Given the description of an element on the screen output the (x, y) to click on. 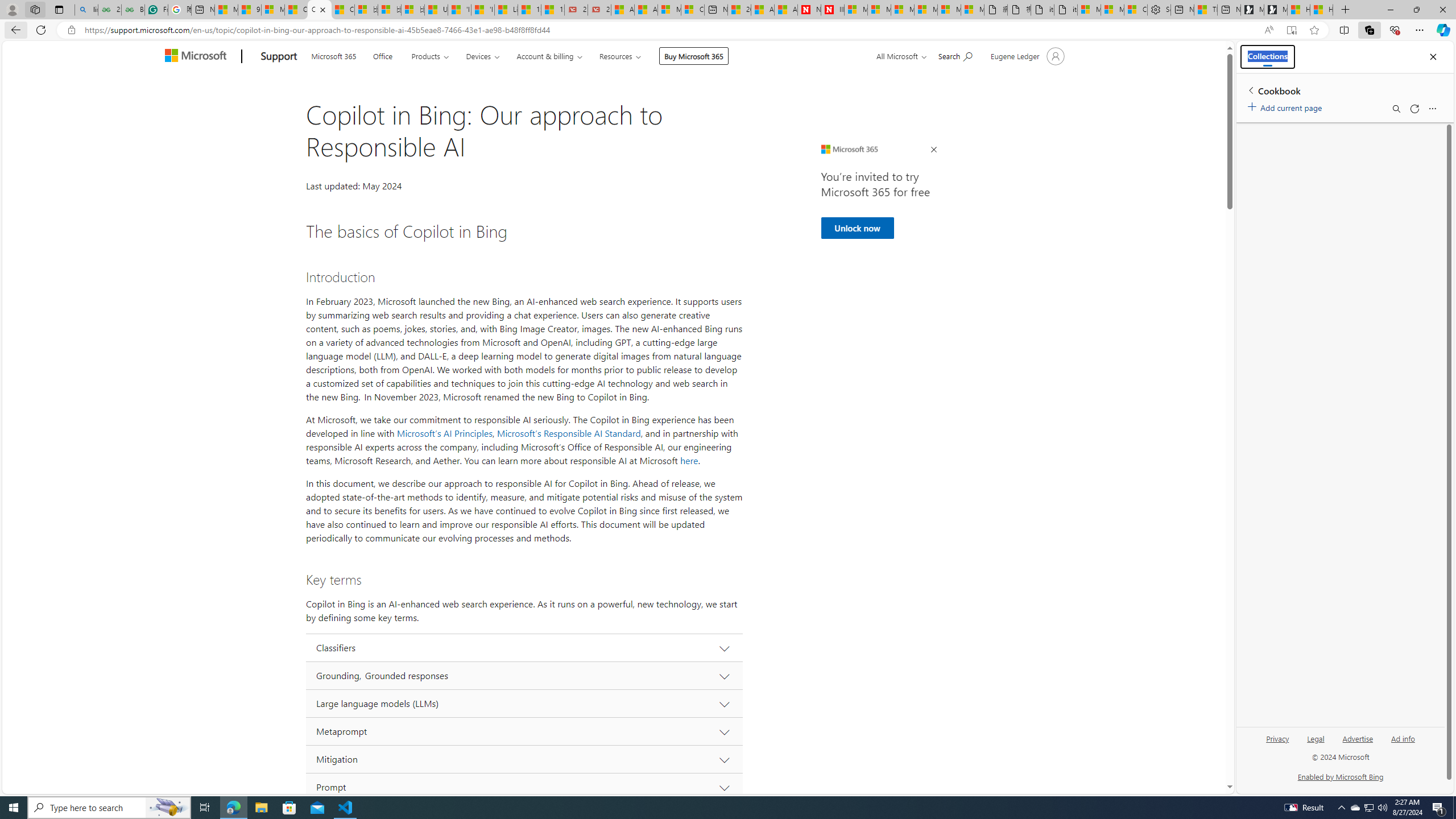
20 Ways to Boost Your Protein Intake at Every Meal (738, 9)
Best SSL Certificates Provider in India - GeeksforGeeks (132, 9)
